Given the description of an element on the screen output the (x, y) to click on. 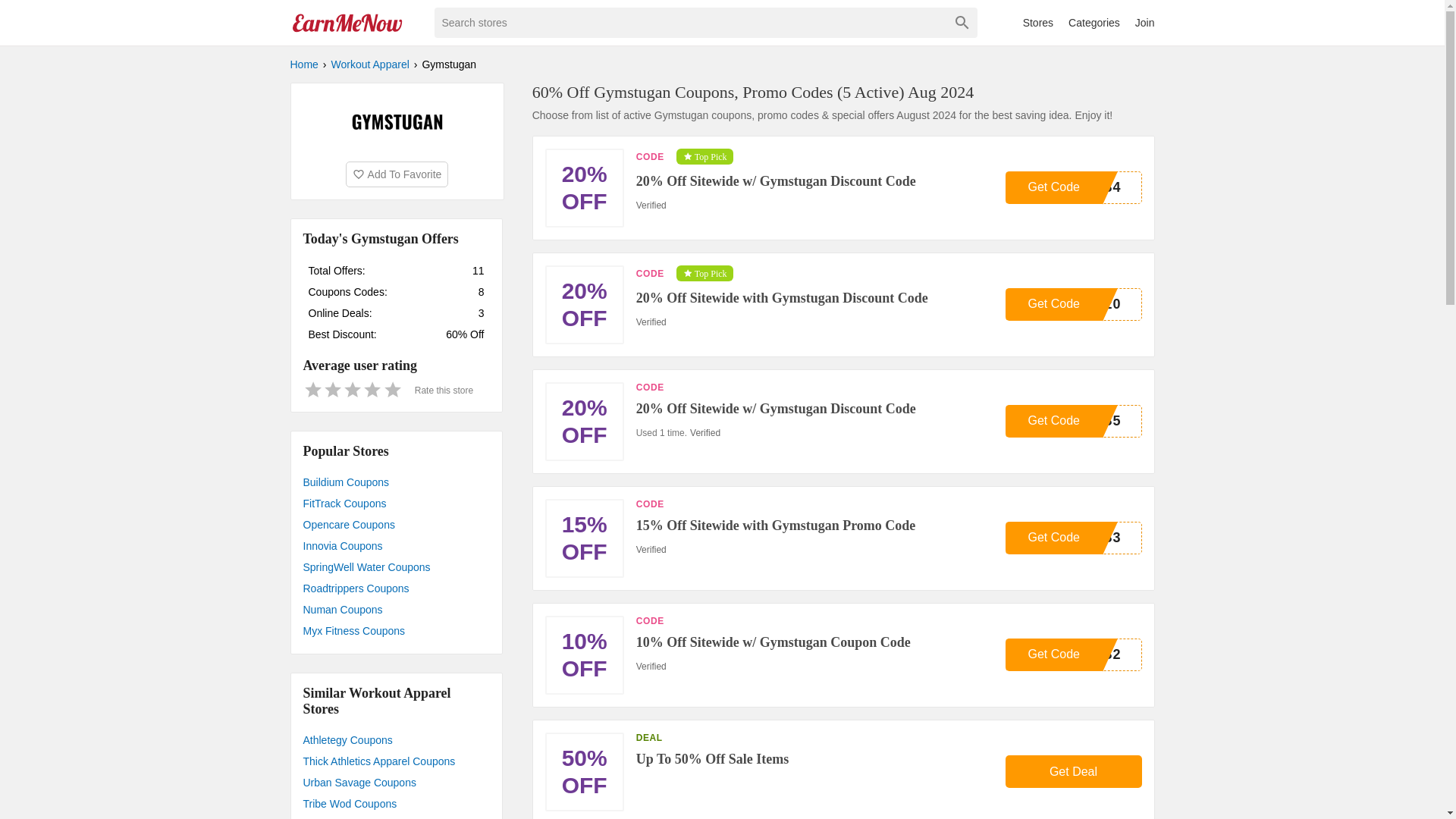
Get Deal (1073, 771)
Innovia Coupons (395, 545)
Home (303, 64)
Join (1144, 22)
Buildium Coupons (395, 482)
Numan Coupons (395, 608)
Opencare Coupons (395, 524)
Myx Fitness Coupons (395, 630)
